Given the description of an element on the screen output the (x, y) to click on. 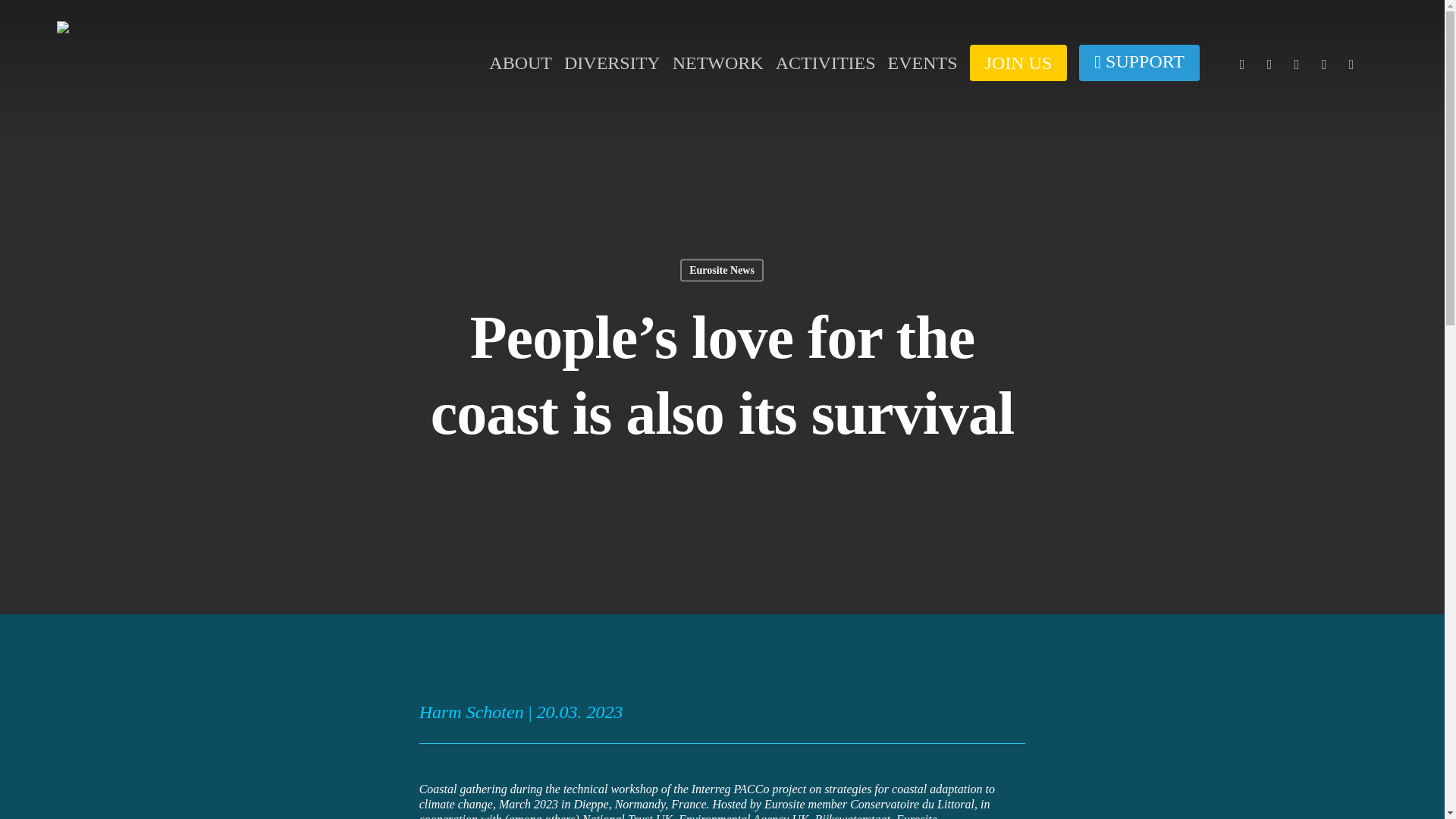
JOIN US (1018, 62)
Page 1 (722, 800)
ABOUT (520, 62)
DIVERSITY (612, 62)
EVENTS (923, 62)
NETWORK (717, 62)
ACTIVITIES (826, 62)
